Given the description of an element on the screen output the (x, y) to click on. 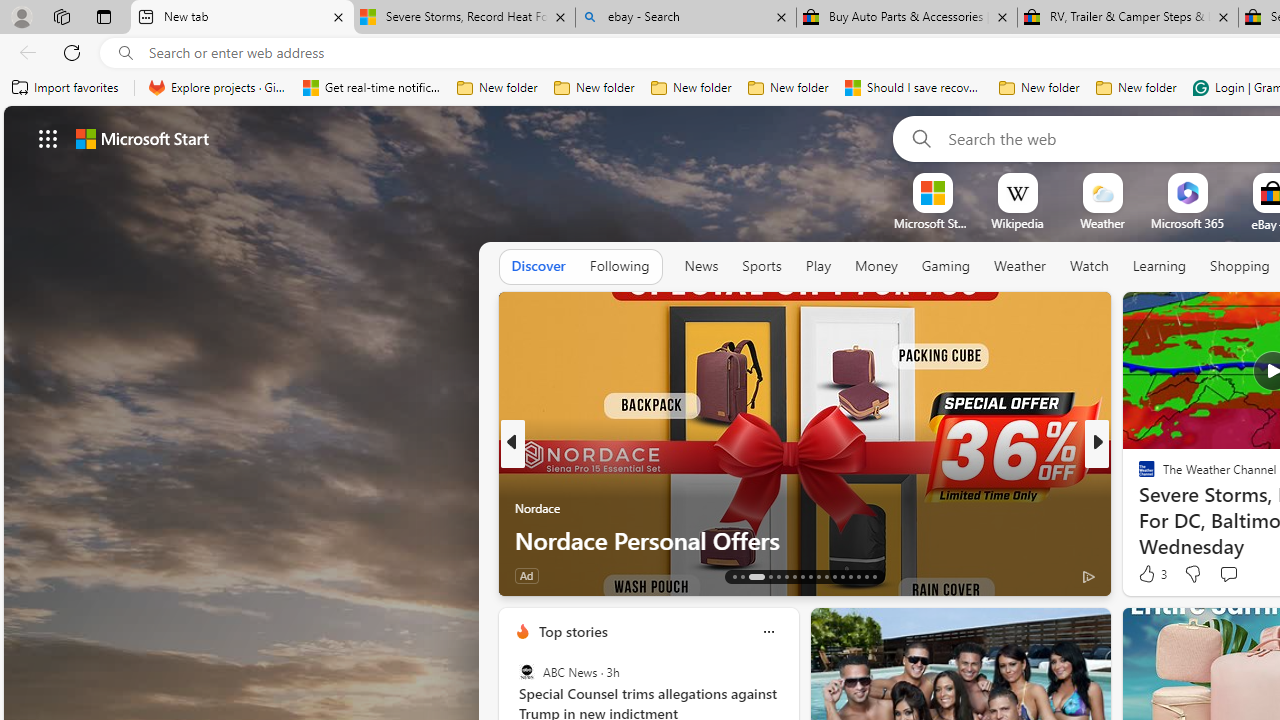
The Independent (1138, 475)
AutomationID: tab-22 (818, 576)
Should I save recovered Word documents? - Microsoft Support (913, 88)
App launcher (47, 138)
138 Like (1151, 574)
Nordace Personal Offers (804, 539)
Top stories (572, 631)
View comments 167 Comment (1234, 575)
Shopping (1240, 265)
AutomationID: tab-13 (733, 576)
